Given the description of an element on the screen output the (x, y) to click on. 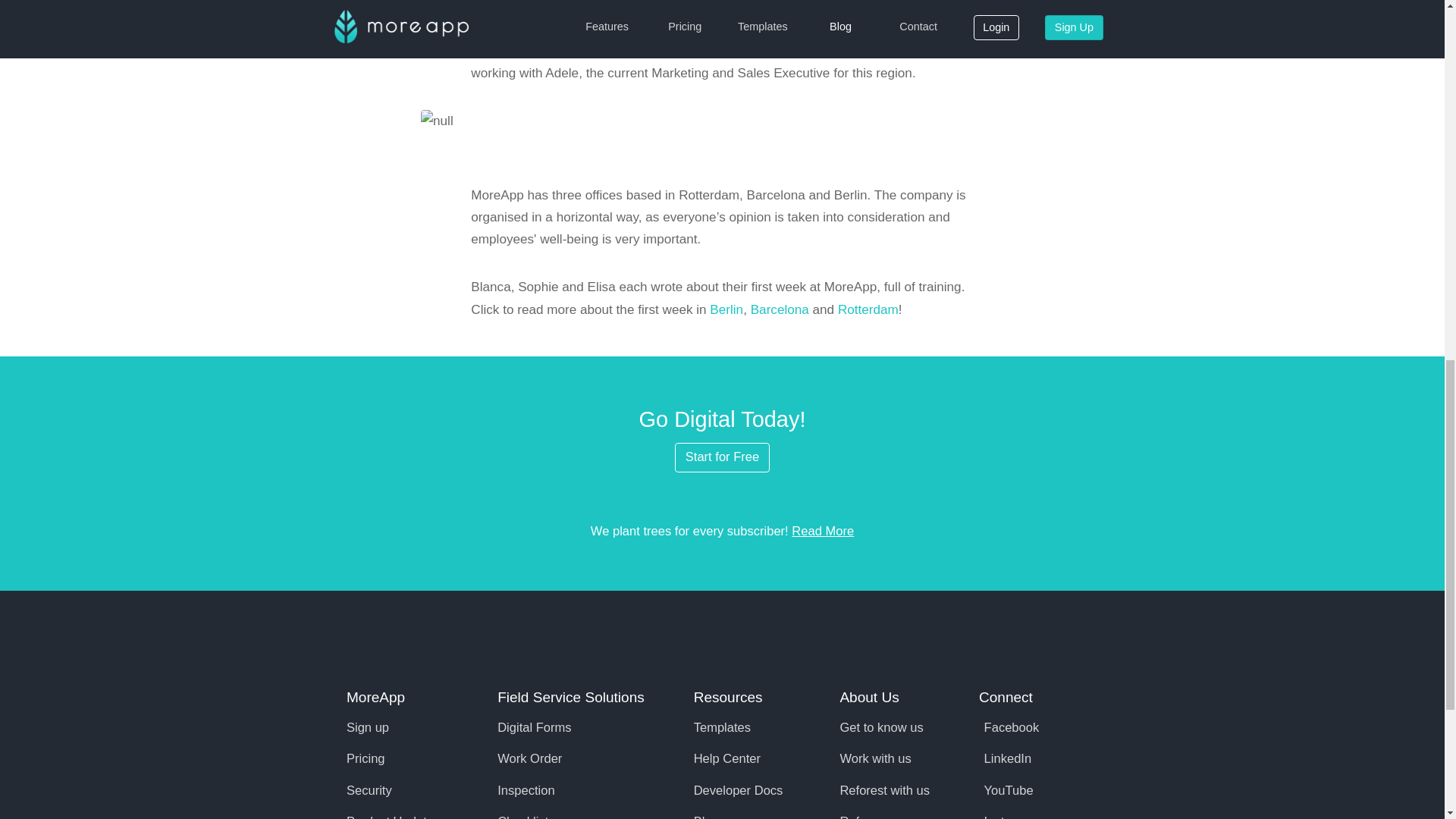
Checklist (522, 816)
Developer Docs (738, 789)
Templates (722, 727)
Refer us (863, 816)
Barcelona (780, 309)
Reforest with us (885, 789)
Start for Free (722, 457)
Work Order (529, 758)
Sign up (367, 727)
Read More (822, 531)
